Given the description of an element on the screen output the (x, y) to click on. 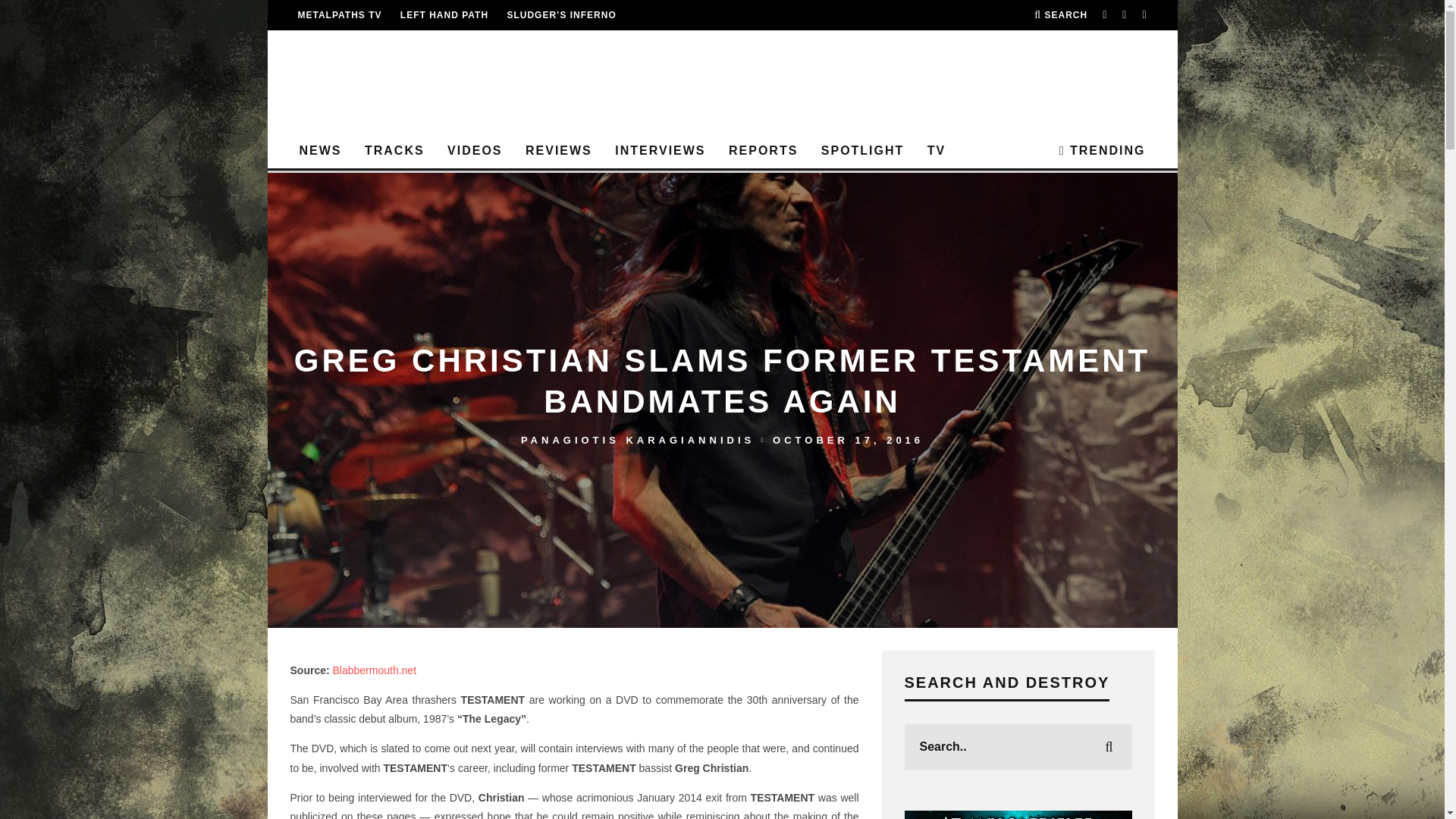
LEFT HAND PATH (443, 15)
METALPATHS TV (339, 15)
REVIEWS (558, 151)
Search (1060, 15)
SEARCH (1060, 15)
TRACKS (394, 151)
NEWS (319, 151)
Log In (721, 409)
VIDEOS (474, 151)
